Given the description of an element on the screen output the (x, y) to click on. 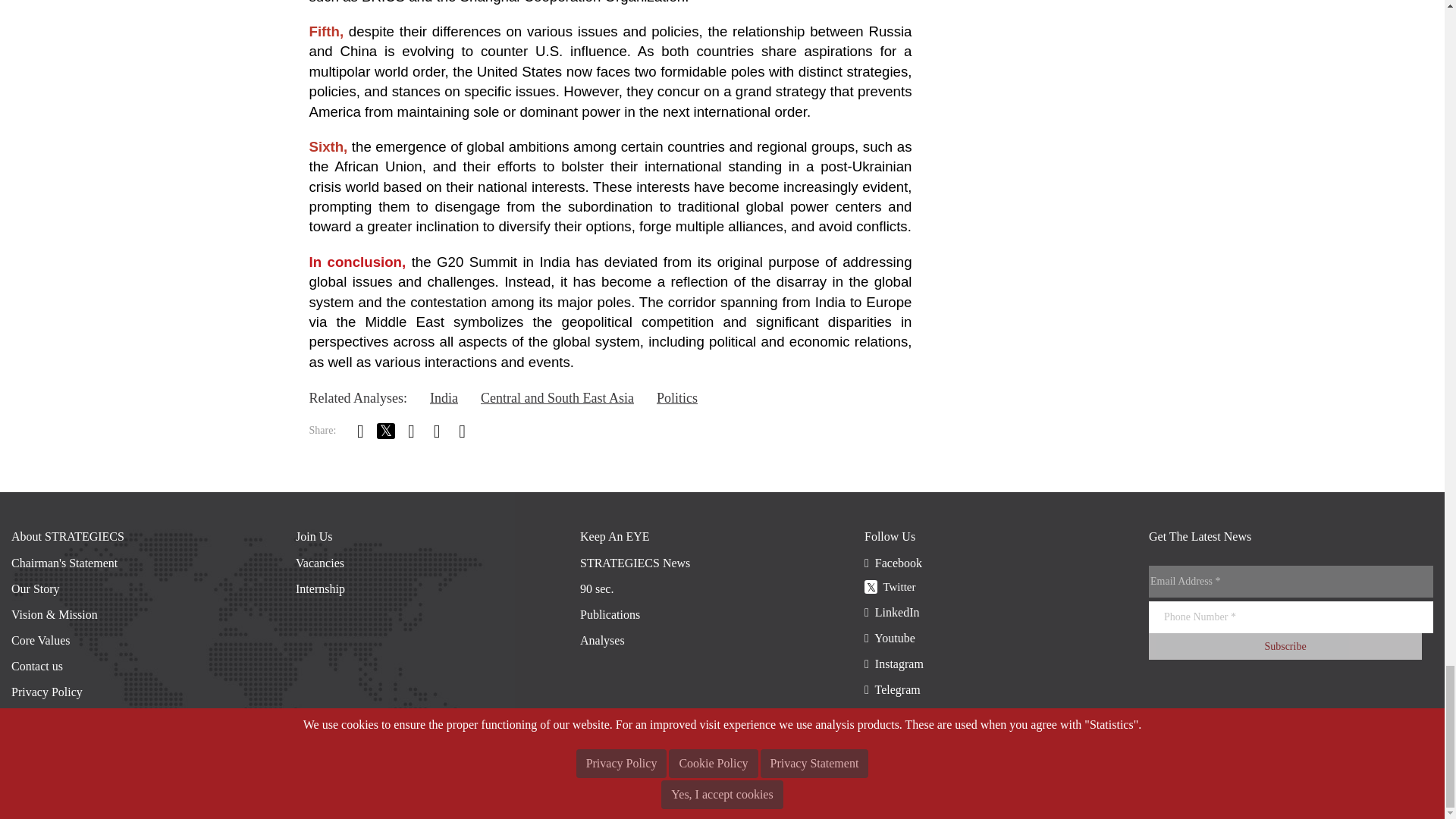
Subscribe (1285, 646)
